Given the description of an element on the screen output the (x, y) to click on. 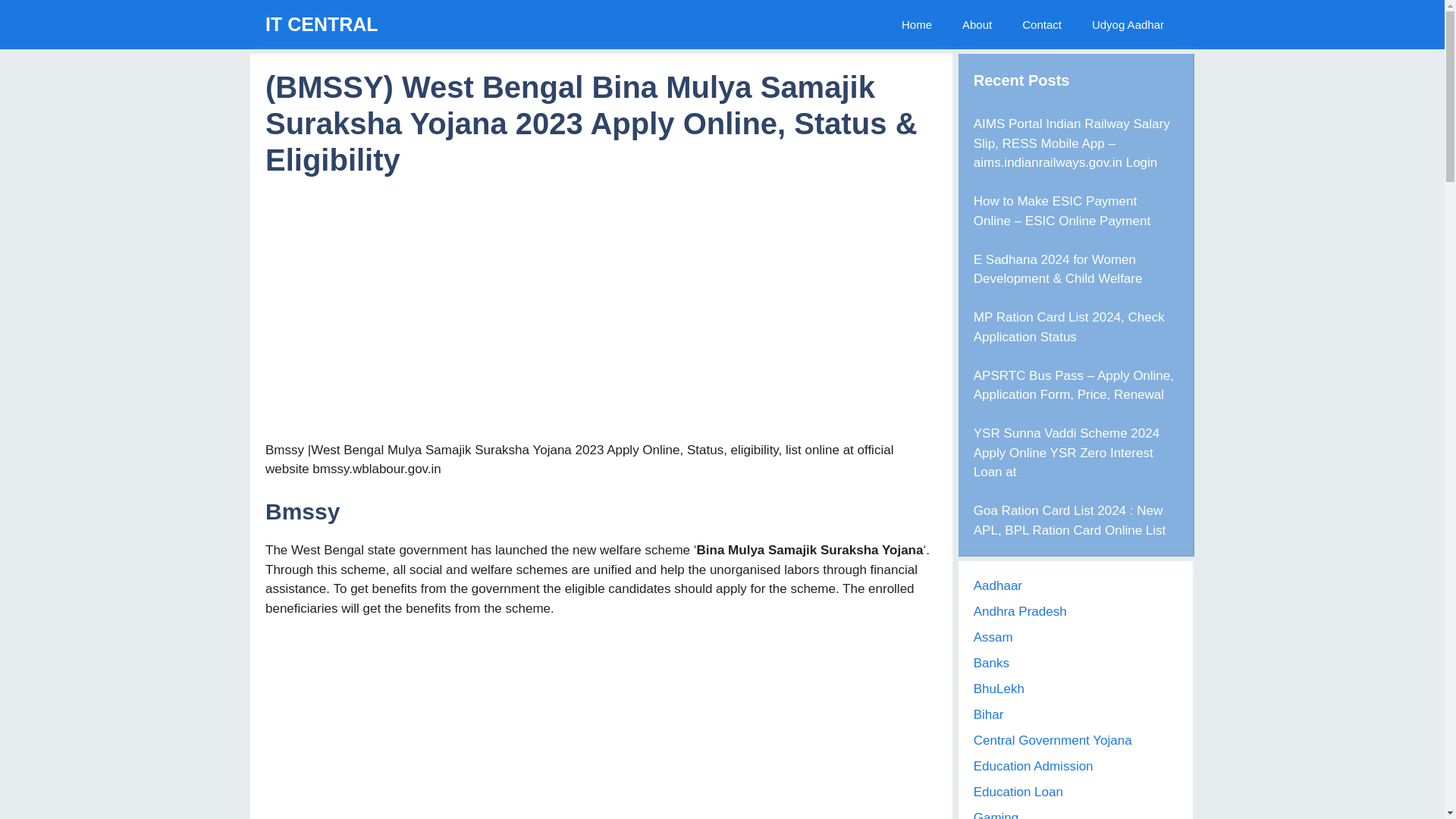
About (977, 24)
Bihar (989, 714)
Home (916, 24)
BhuLekh (999, 688)
Central Government Yojana (1053, 740)
MP Ration Card List 2024, Check Application Status (1069, 326)
Education Admission (1033, 766)
Udyog Aadhar (1128, 24)
